Given the description of an element on the screen output the (x, y) to click on. 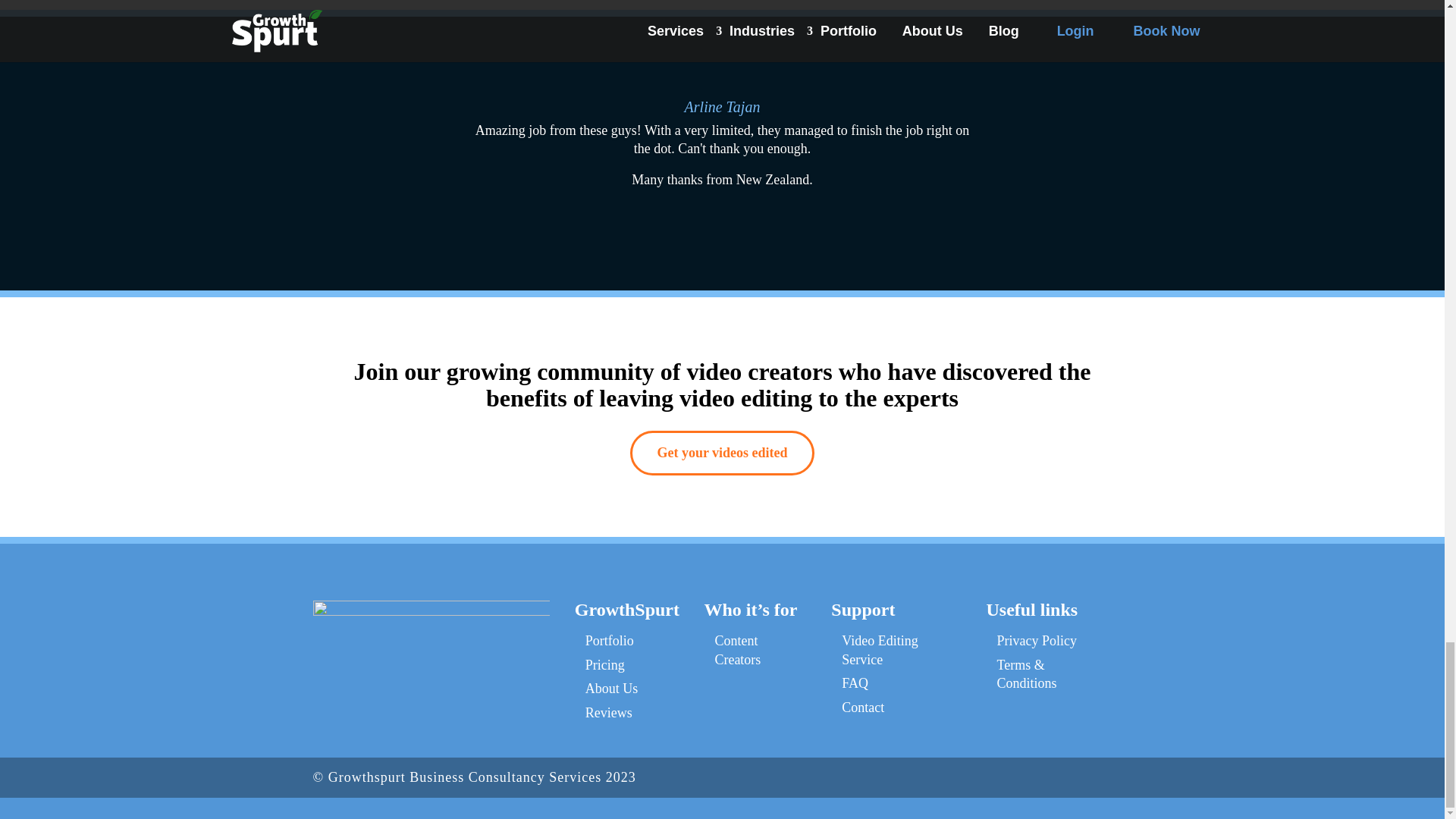
Reviews (608, 712)
About Us (612, 688)
Privacy Policy (1036, 640)
Pricing (604, 664)
FAQ (854, 683)
Video Editing Service (879, 650)
Get your videos edited (721, 452)
Content Creators (737, 650)
Contact (862, 707)
Portfolio (609, 640)
